Given the description of an element on the screen output the (x, y) to click on. 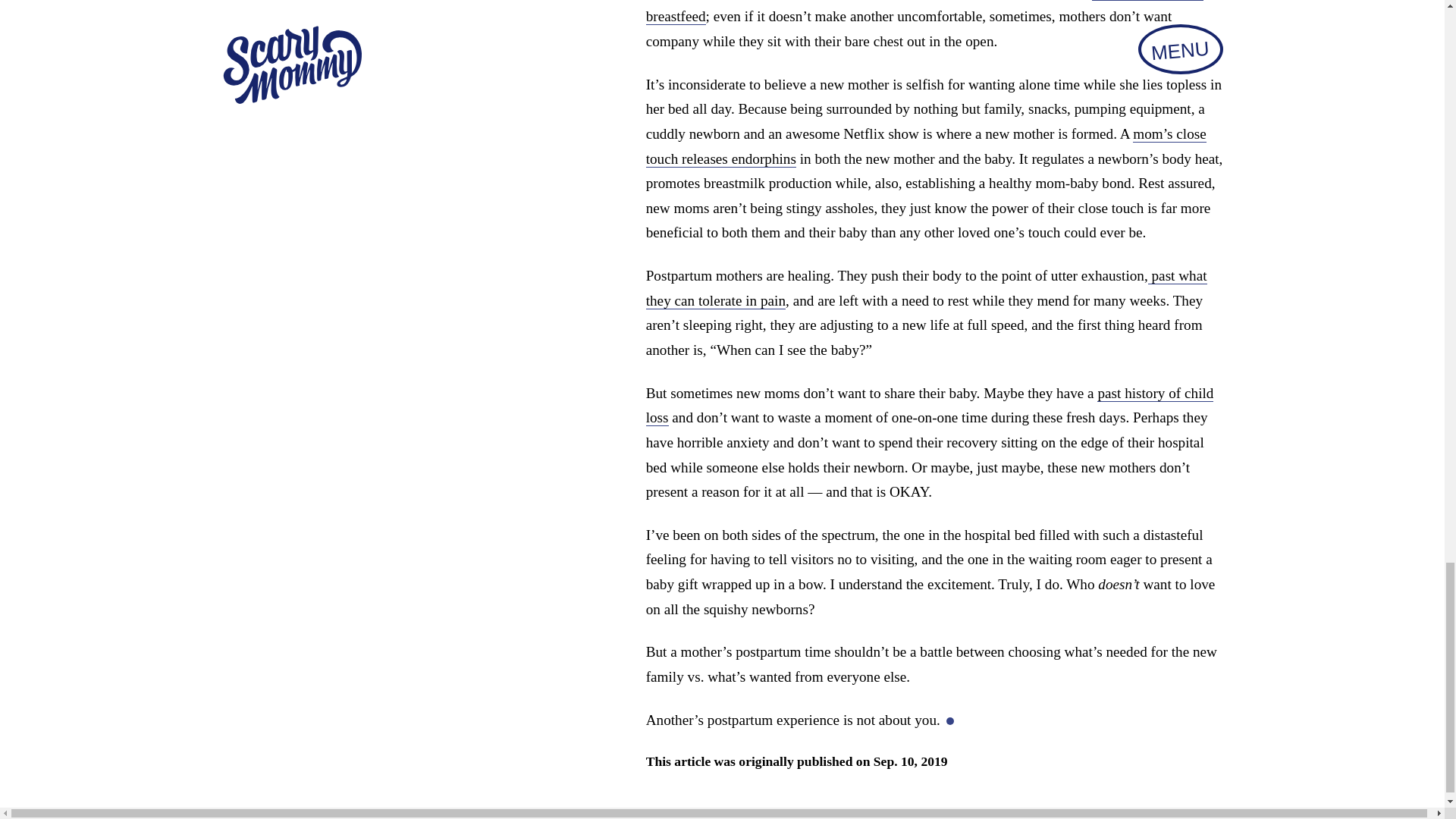
fighting like hell to breastfeed (925, 12)
past what they can tolerate in pain (926, 288)
past history of child loss (930, 405)
